Given the description of an element on the screen output the (x, y) to click on. 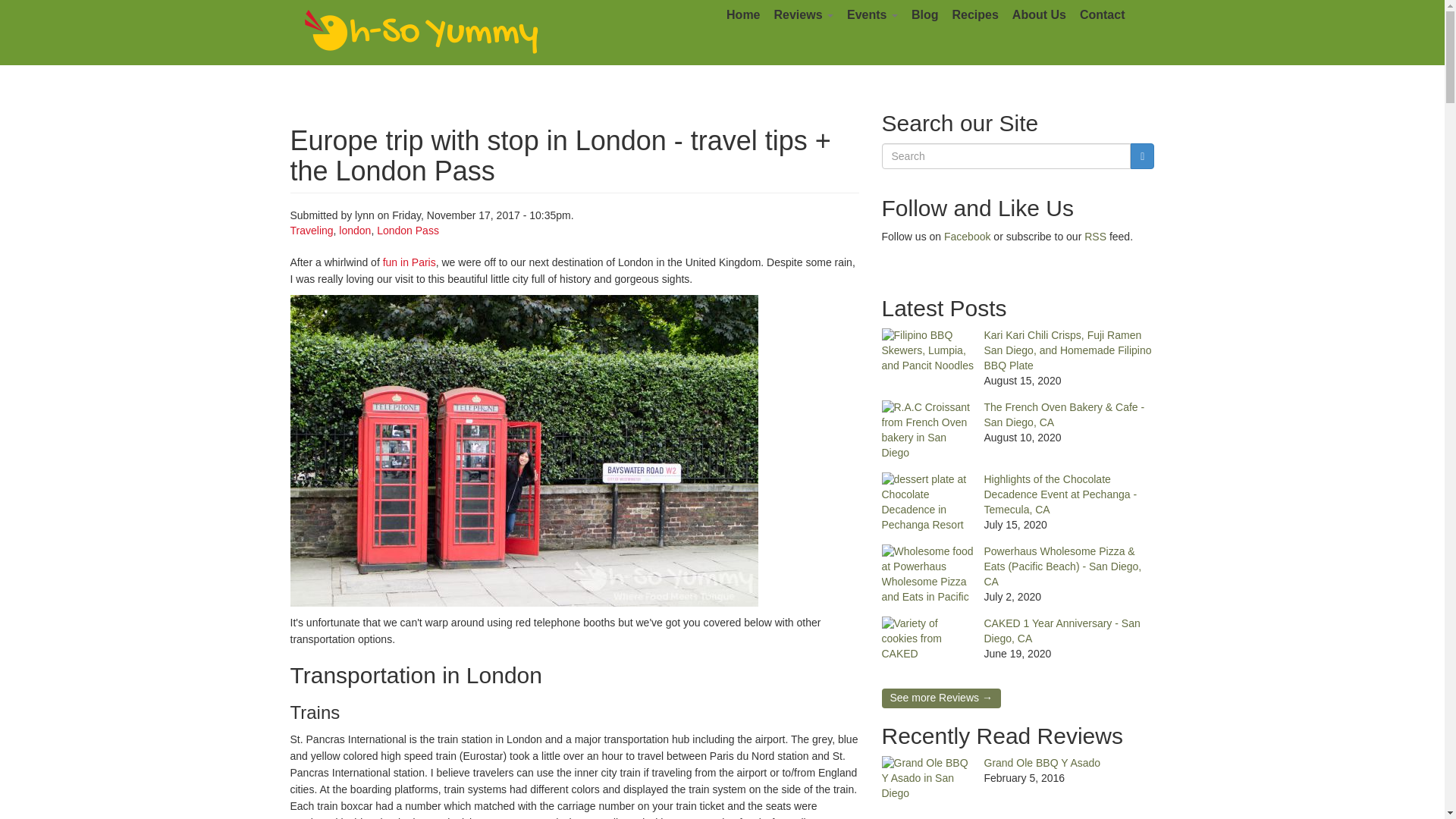
Home (421, 31)
london (355, 230)
Recipes (974, 15)
London Pass (408, 230)
Home (743, 15)
B-Europe (528, 817)
Search (907, 173)
fun in Paris (408, 262)
